Given the description of an element on the screen output the (x, y) to click on. 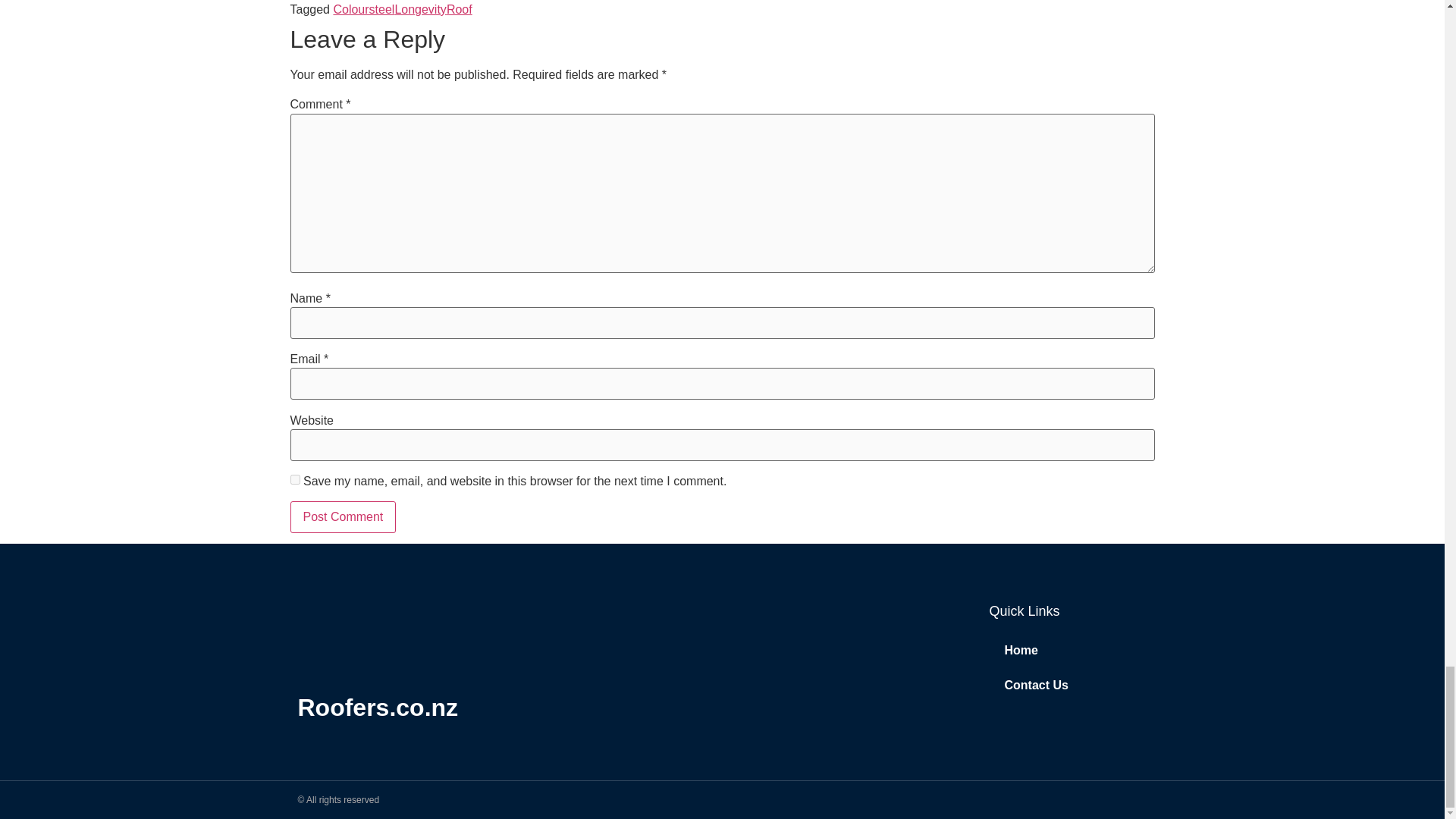
Roof (458, 9)
Home (1067, 650)
Coloursteel (363, 9)
Post Comment (342, 517)
yes (294, 479)
Longevity (420, 9)
Post Comment (342, 517)
Contact Us (1067, 685)
